Given the description of an element on the screen output the (x, y) to click on. 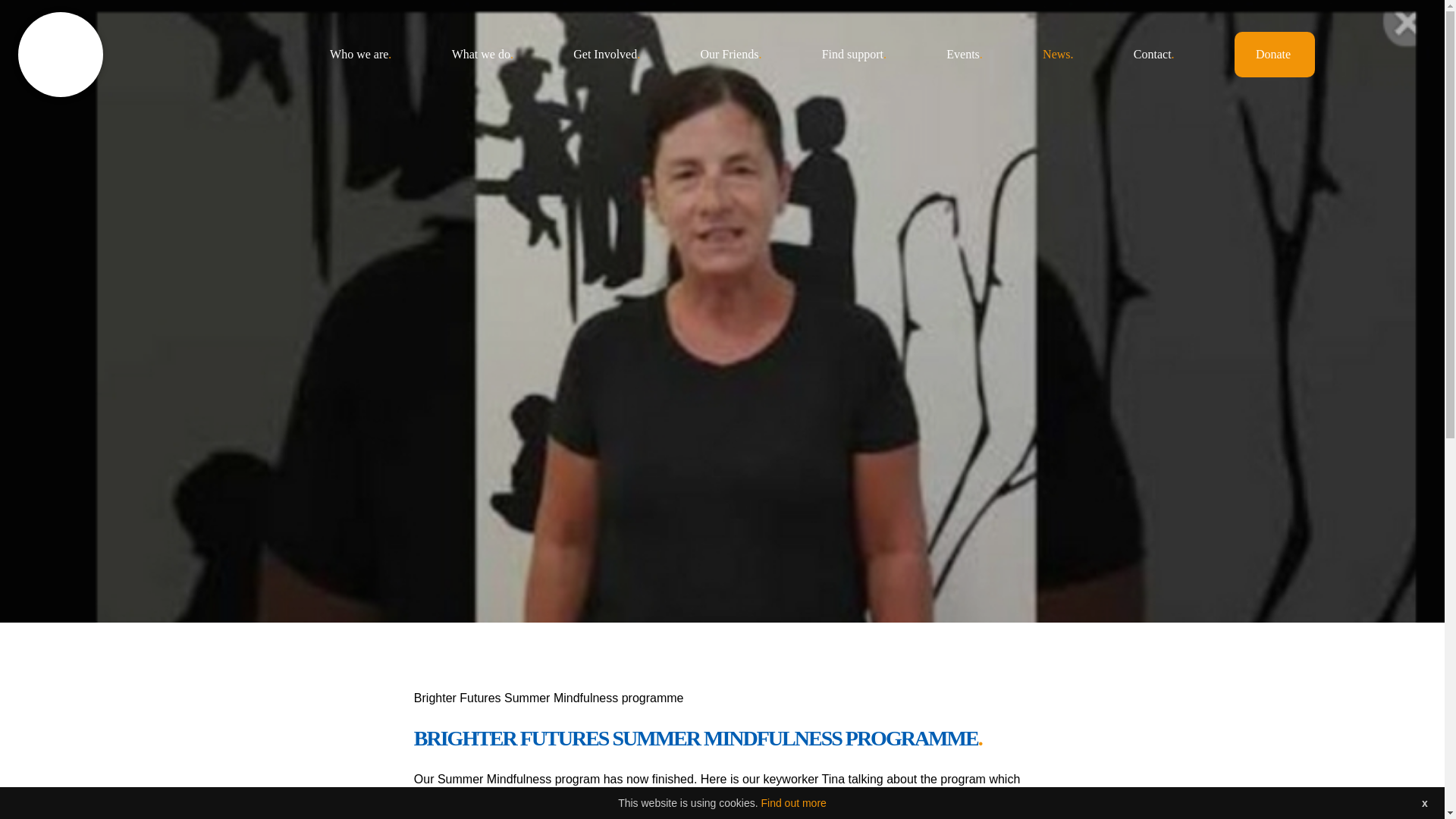
Donate (59, 76)
Donate. (1274, 53)
Get Involved. (606, 53)
What we do. (482, 53)
News. (1057, 53)
Who we are. (360, 53)
Contact. (1154, 53)
Events. (964, 53)
Our Friends. (730, 53)
Find out more (792, 802)
